Given the description of an element on the screen output the (x, y) to click on. 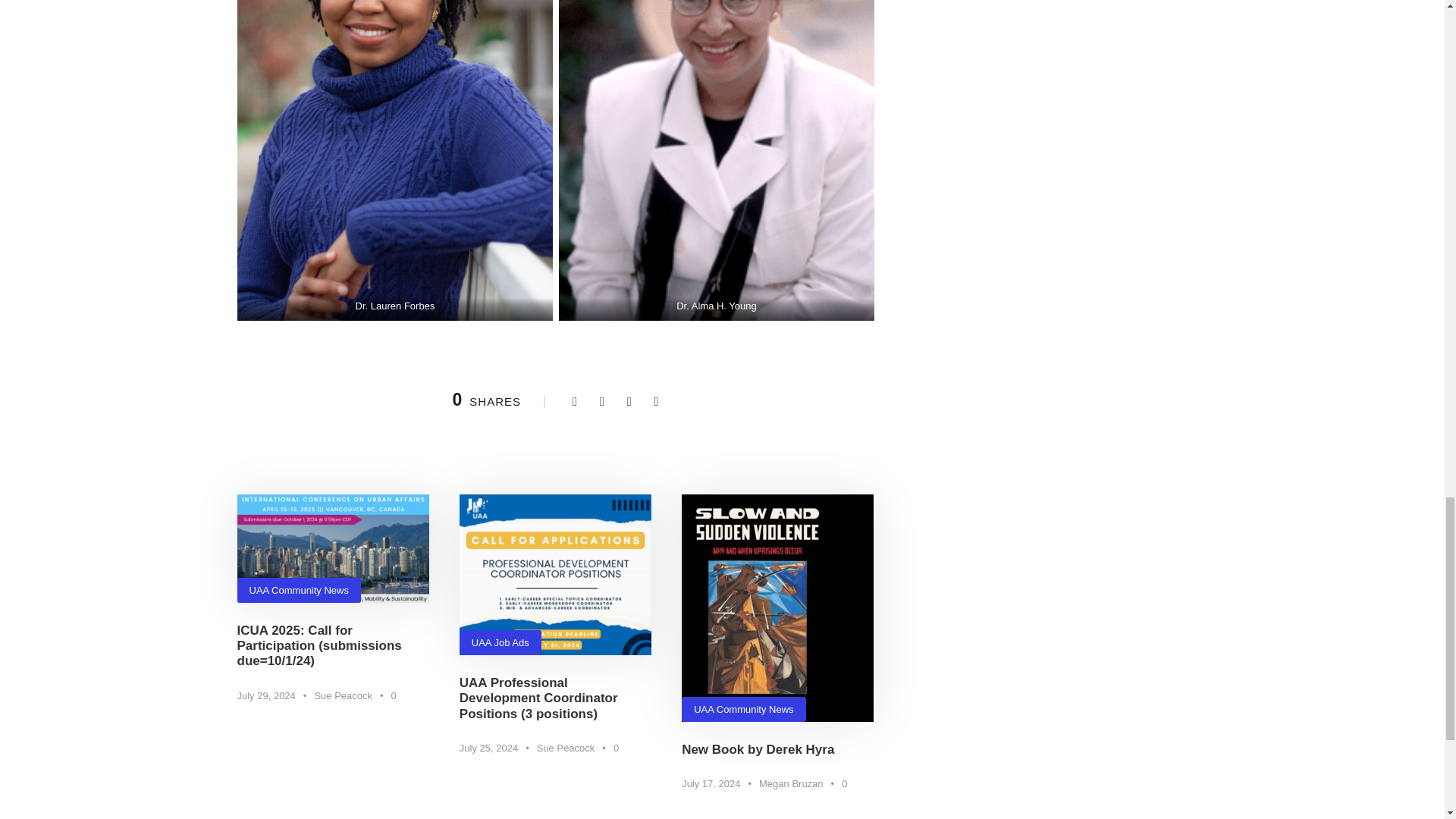
Posts by Sue Peacock (566, 747)
Posts by Megan Bruzan (791, 783)
profDevCoordinators (555, 574)
Posts by Sue Peacock (343, 695)
